Given the description of an element on the screen output the (x, y) to click on. 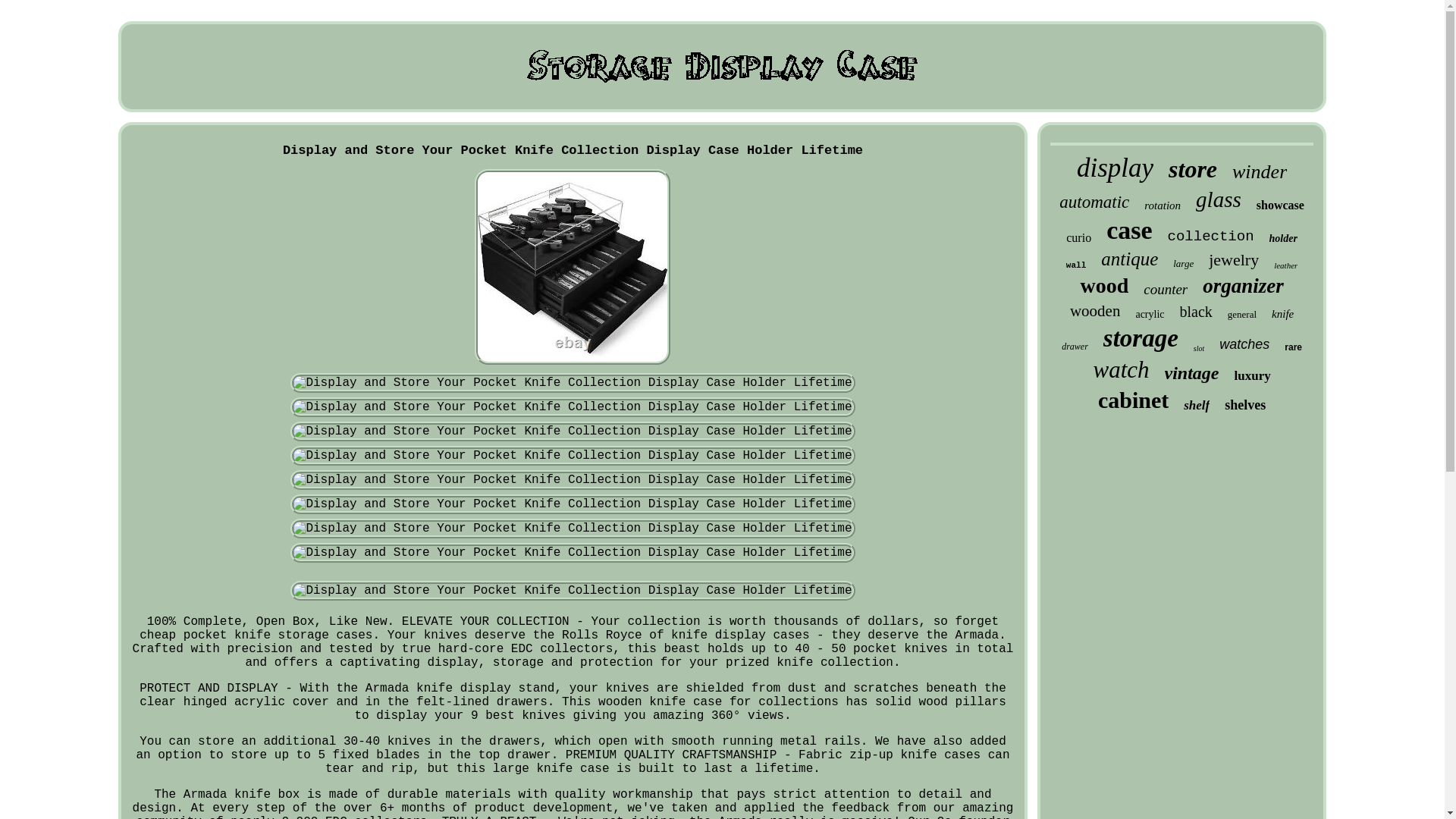
collection (1210, 236)
store (1193, 169)
curio (1077, 237)
knife (1282, 314)
organizer (1243, 286)
black (1195, 312)
jewelry (1233, 260)
counter (1165, 289)
